Given the description of an element on the screen output the (x, y) to click on. 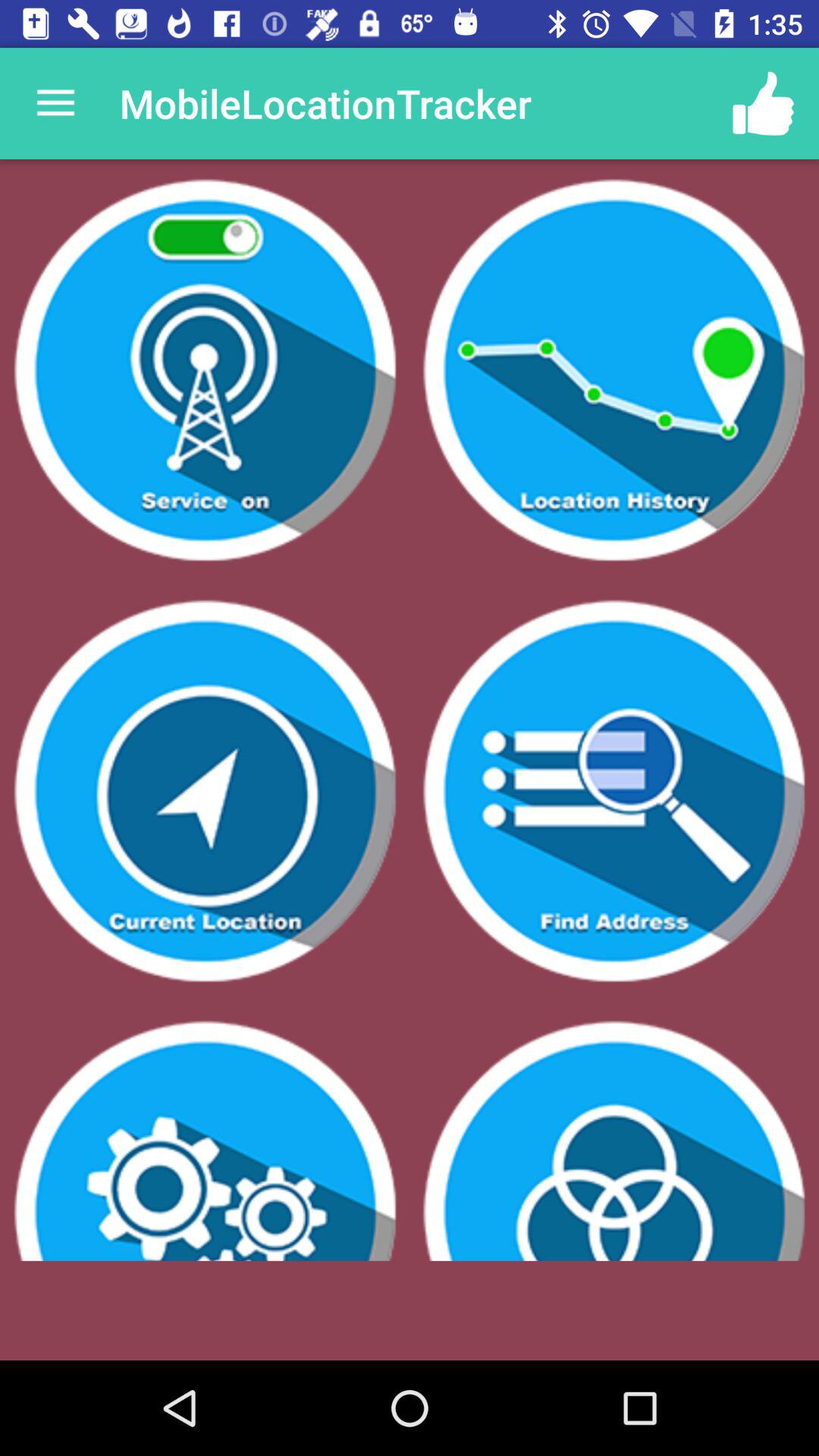
tap app next to mobilelocationtracker item (763, 103)
